Given the description of an element on the screen output the (x, y) to click on. 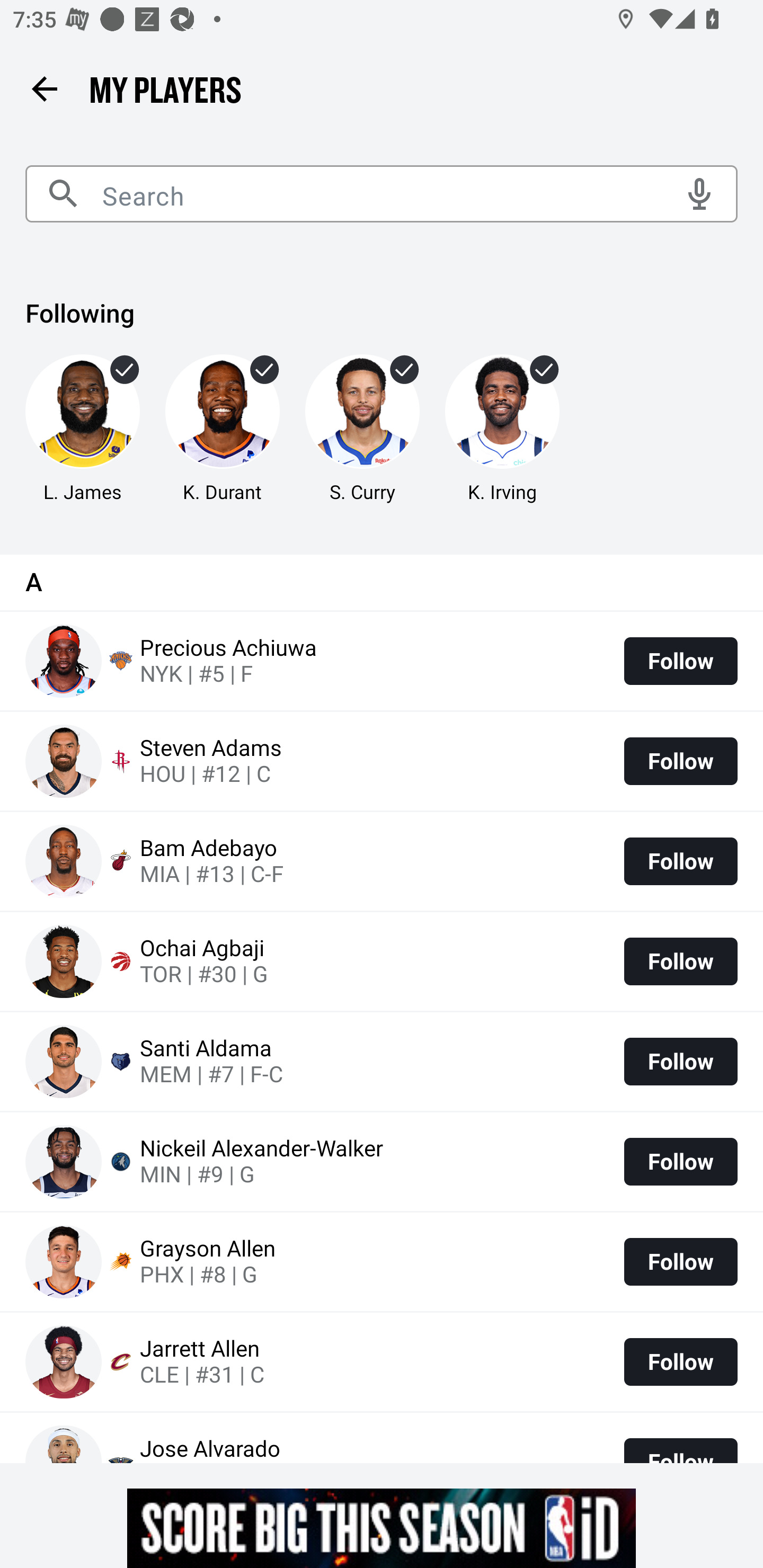
Back button (44, 88)
Search (381, 193)
Follow (680, 660)
Follow (680, 760)
Follow (680, 861)
Follow (680, 961)
Follow (680, 1061)
Follow (680, 1161)
Follow (680, 1261)
Follow (680, 1361)
g5nqqygr7owph (381, 1528)
